Given the description of an element on the screen output the (x, y) to click on. 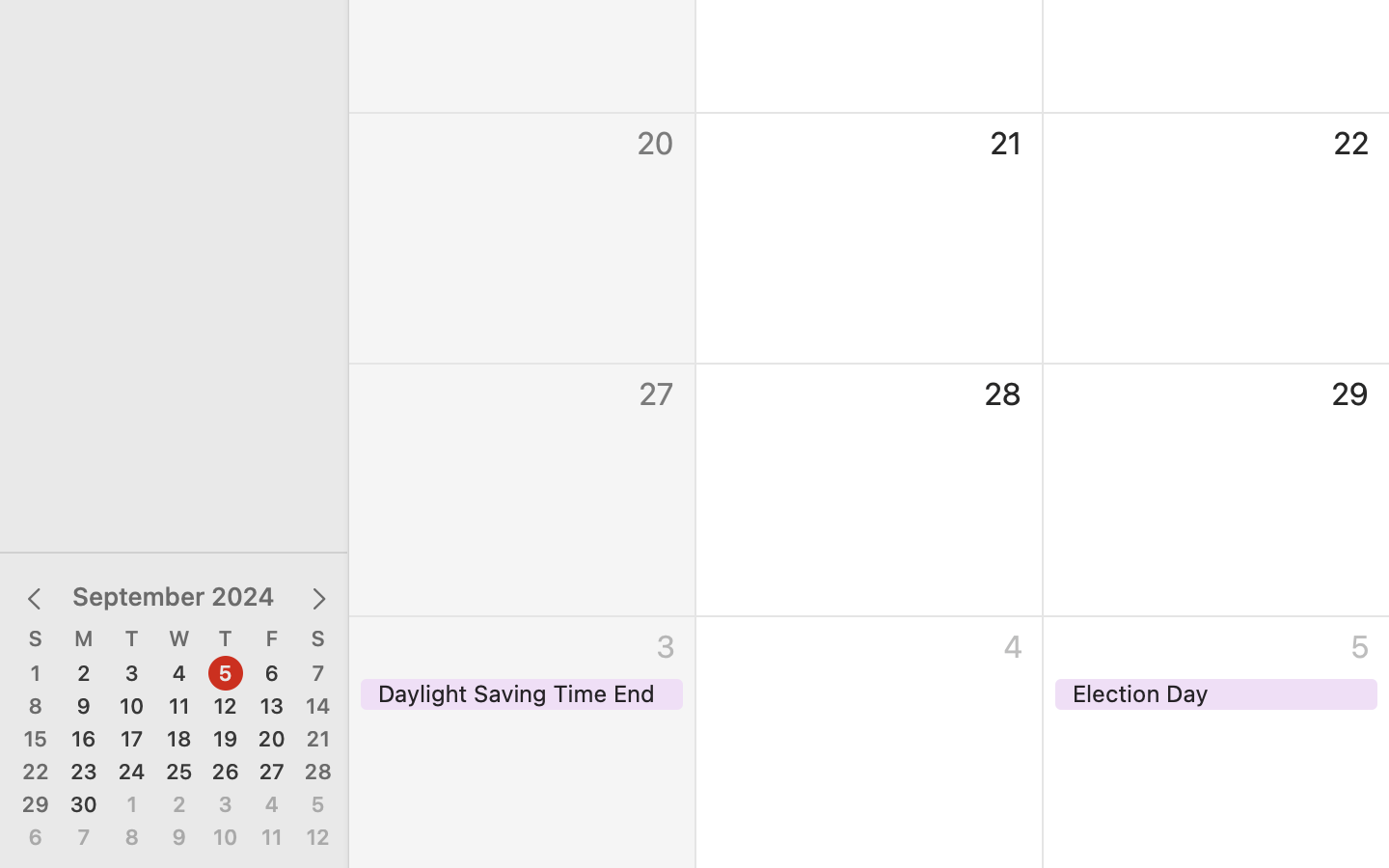
6 Element type: AXStaticText (35, 837)
27 Element type: AXStaticText (271, 772)
7 Element type: AXStaticText (83, 837)
12 Element type: AXStaticText (225, 706)
18 Element type: AXStaticText (179, 739)
